Given the description of an element on the screen output the (x, y) to click on. 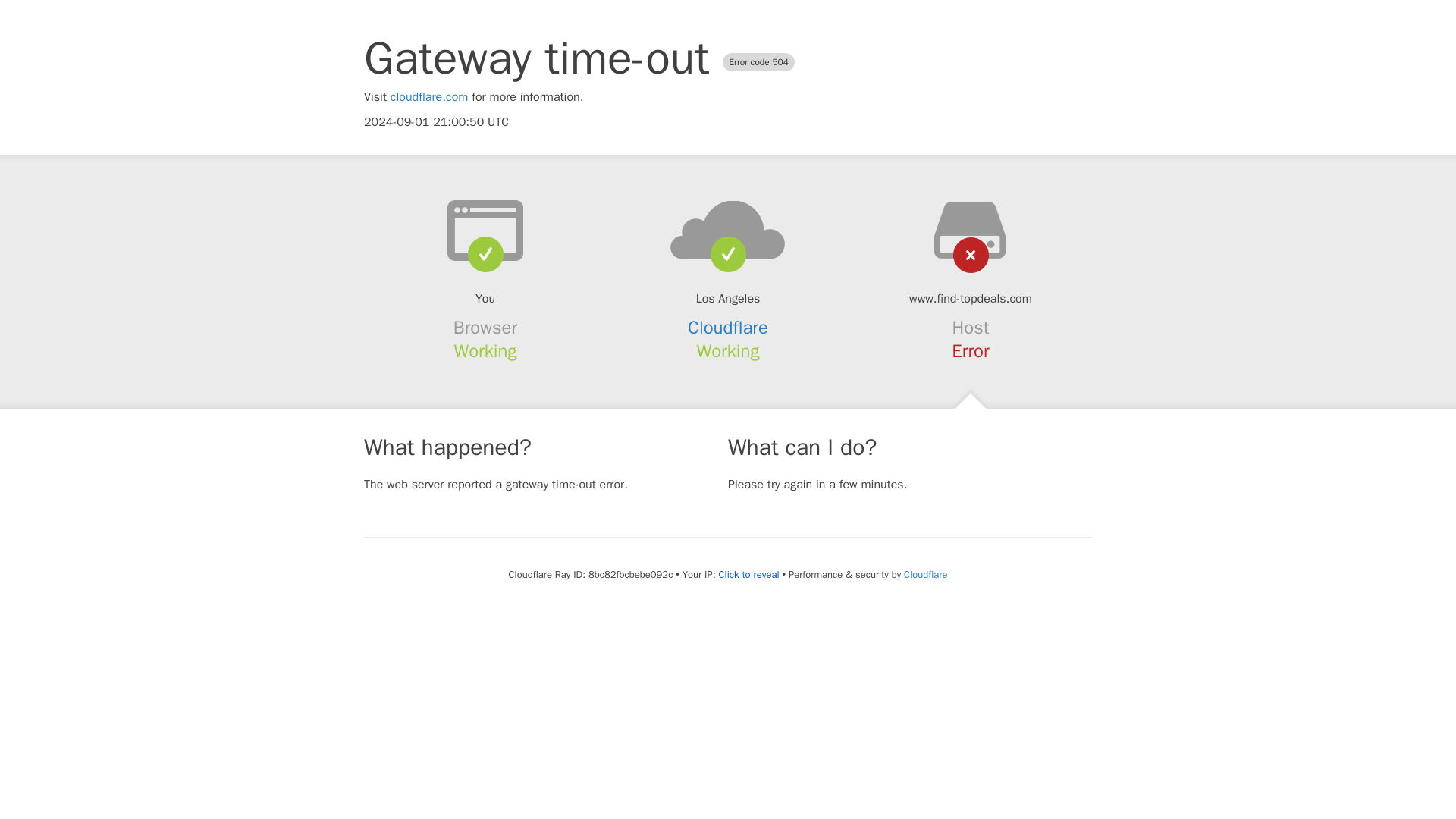
Cloudflare (727, 327)
cloudflare.com (429, 96)
Click to reveal (748, 574)
Cloudflare (925, 574)
